Given the description of an element on the screen output the (x, y) to click on. 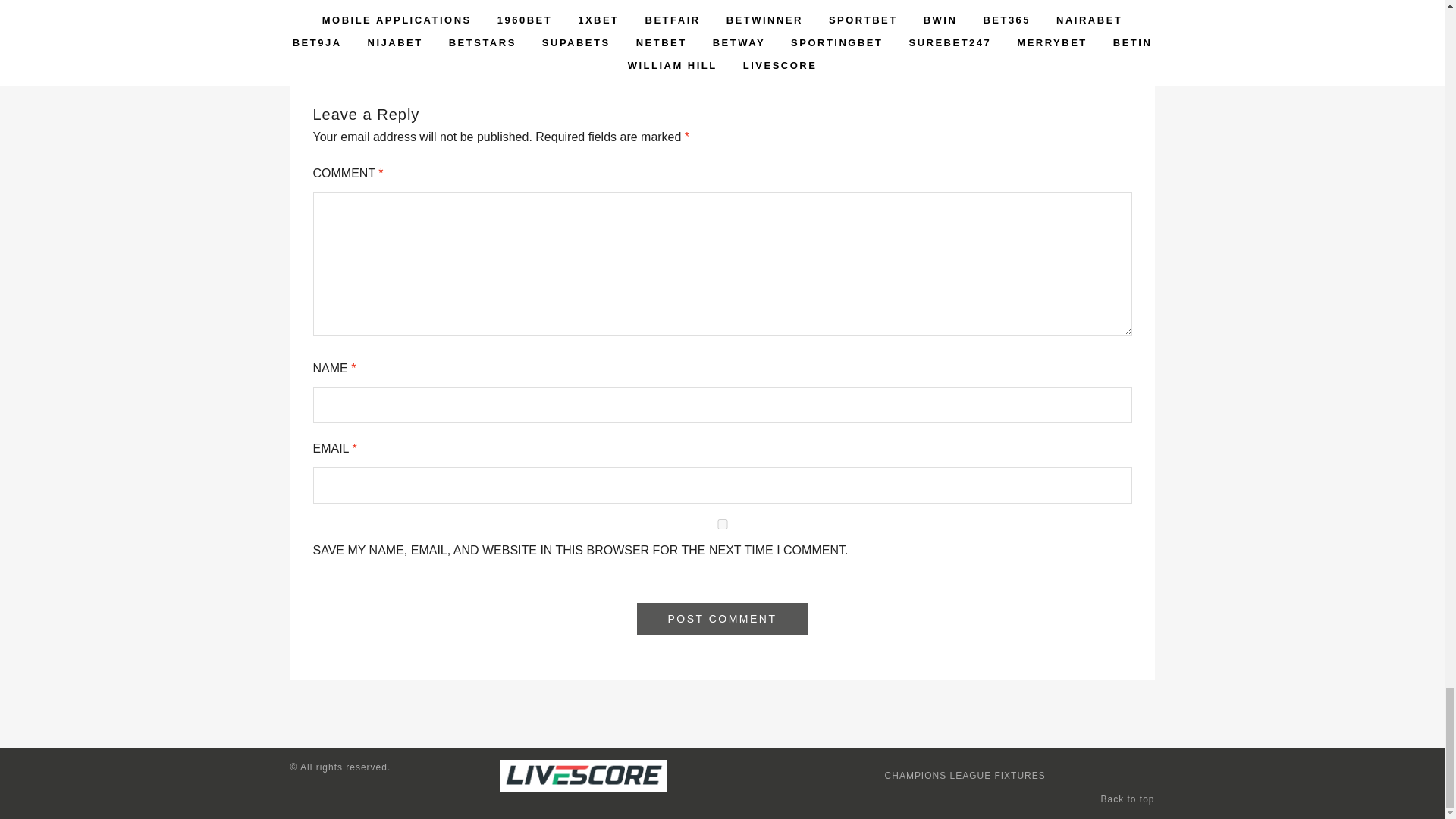
yes (722, 524)
CHAMPIONS LEAGUE FIXTURES (965, 775)
Post Comment (721, 618)
Back to top (1127, 798)
Post Comment (721, 618)
